Given the description of an element on the screen output the (x, y) to click on. 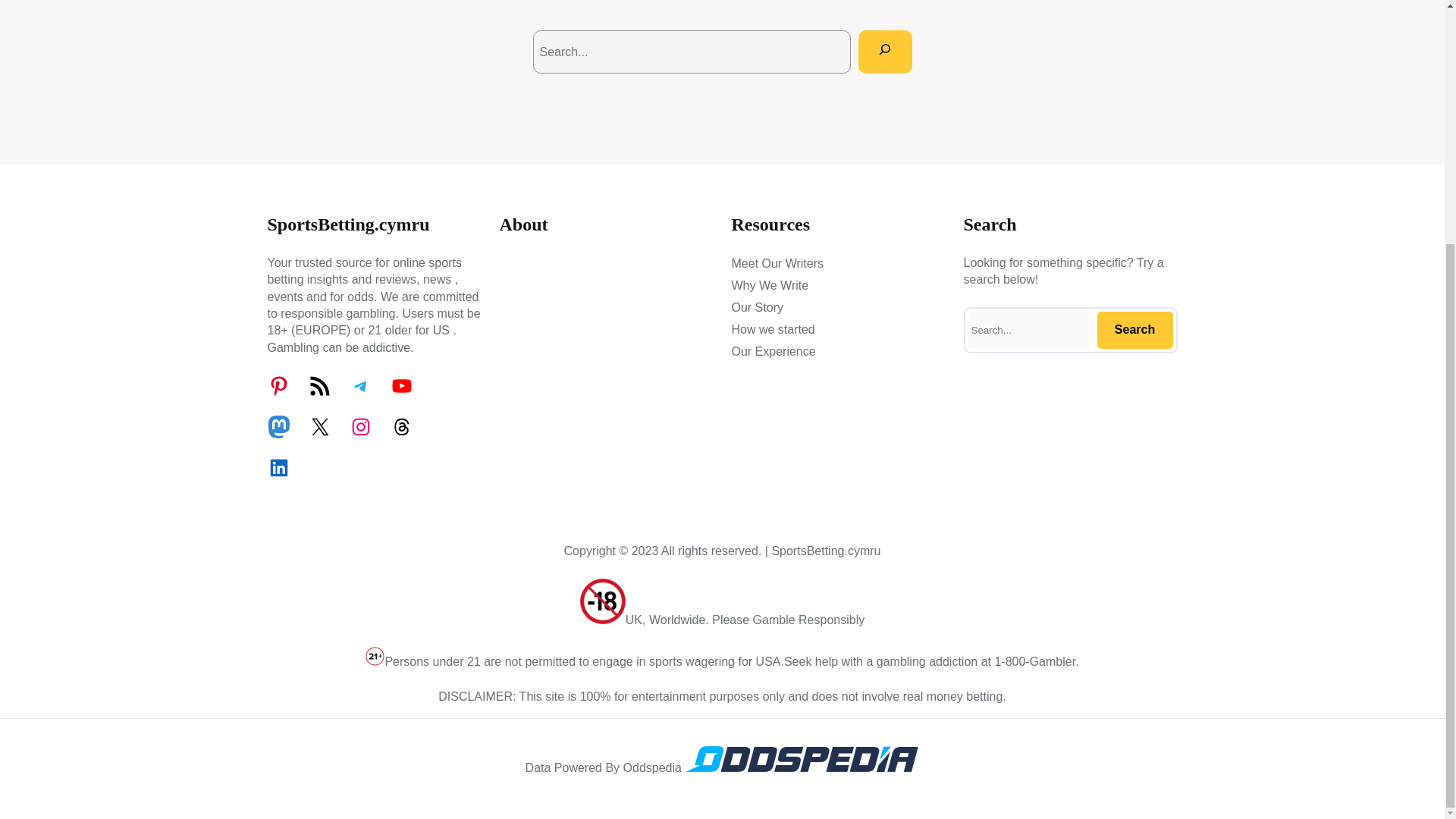
Our Experience (772, 352)
Mastodon (277, 426)
RSS Feed (318, 385)
Instagram (360, 426)
Oddspedia (801, 767)
YouTube (401, 385)
Telegram (360, 385)
Pinterest (277, 385)
Oddspedia (801, 759)
Meet Our Writers (777, 263)
Our Story (756, 307)
LinkedIn (277, 467)
Threads (401, 426)
How we started (771, 330)
X (318, 426)
